Given the description of an element on the screen output the (x, y) to click on. 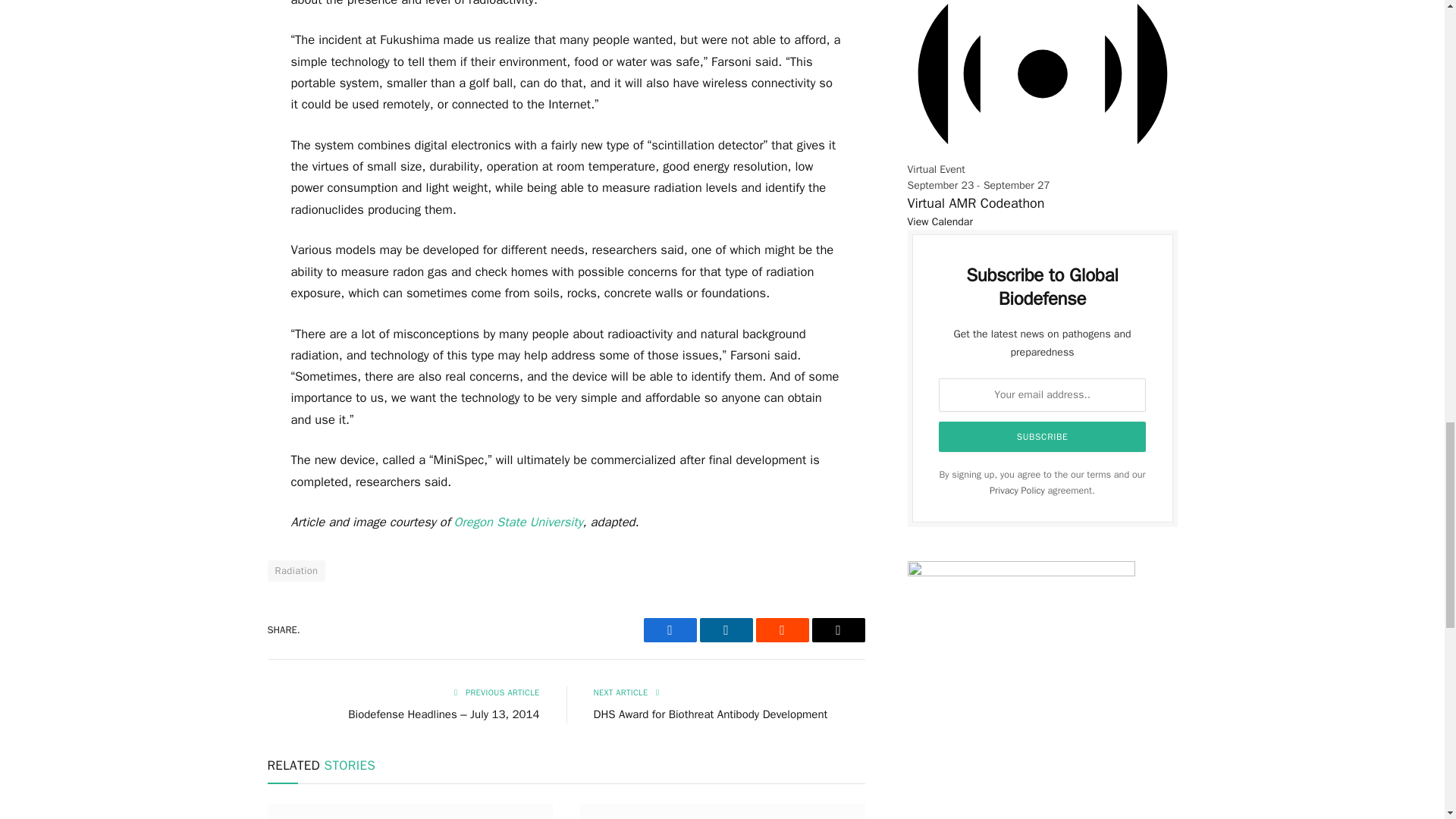
Radiation (295, 570)
Subscribe (1043, 436)
Facebook (669, 630)
Reddit (781, 630)
LinkedIn (725, 630)
Virtual Event (1041, 78)
Oregon State University (518, 521)
DHS Award for Biothreat Antibody Development (709, 714)
Email (837, 630)
